Given the description of an element on the screen output the (x, y) to click on. 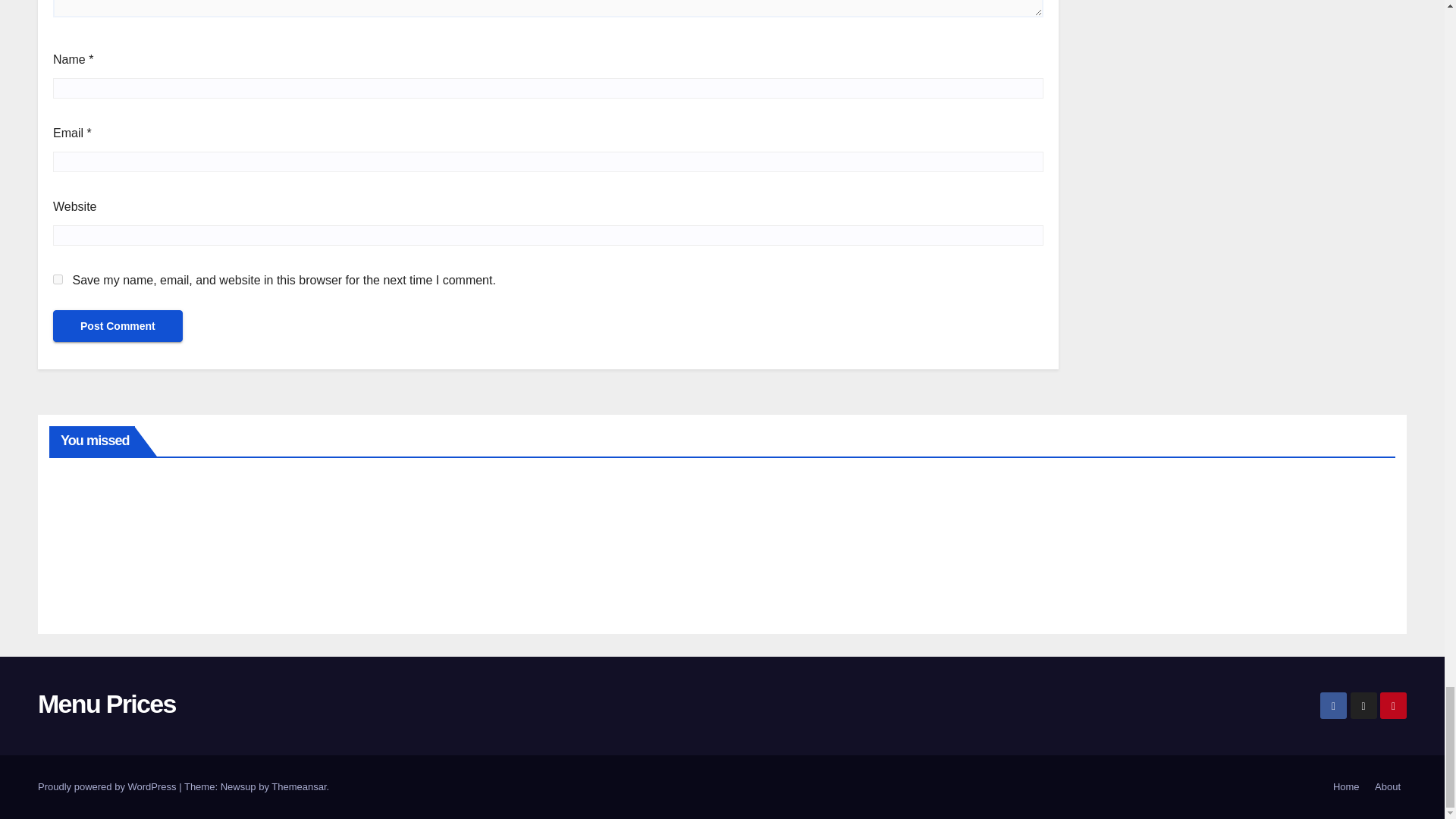
Post Comment (117, 326)
yes (57, 279)
